Given the description of an element on the screen output the (x, y) to click on. 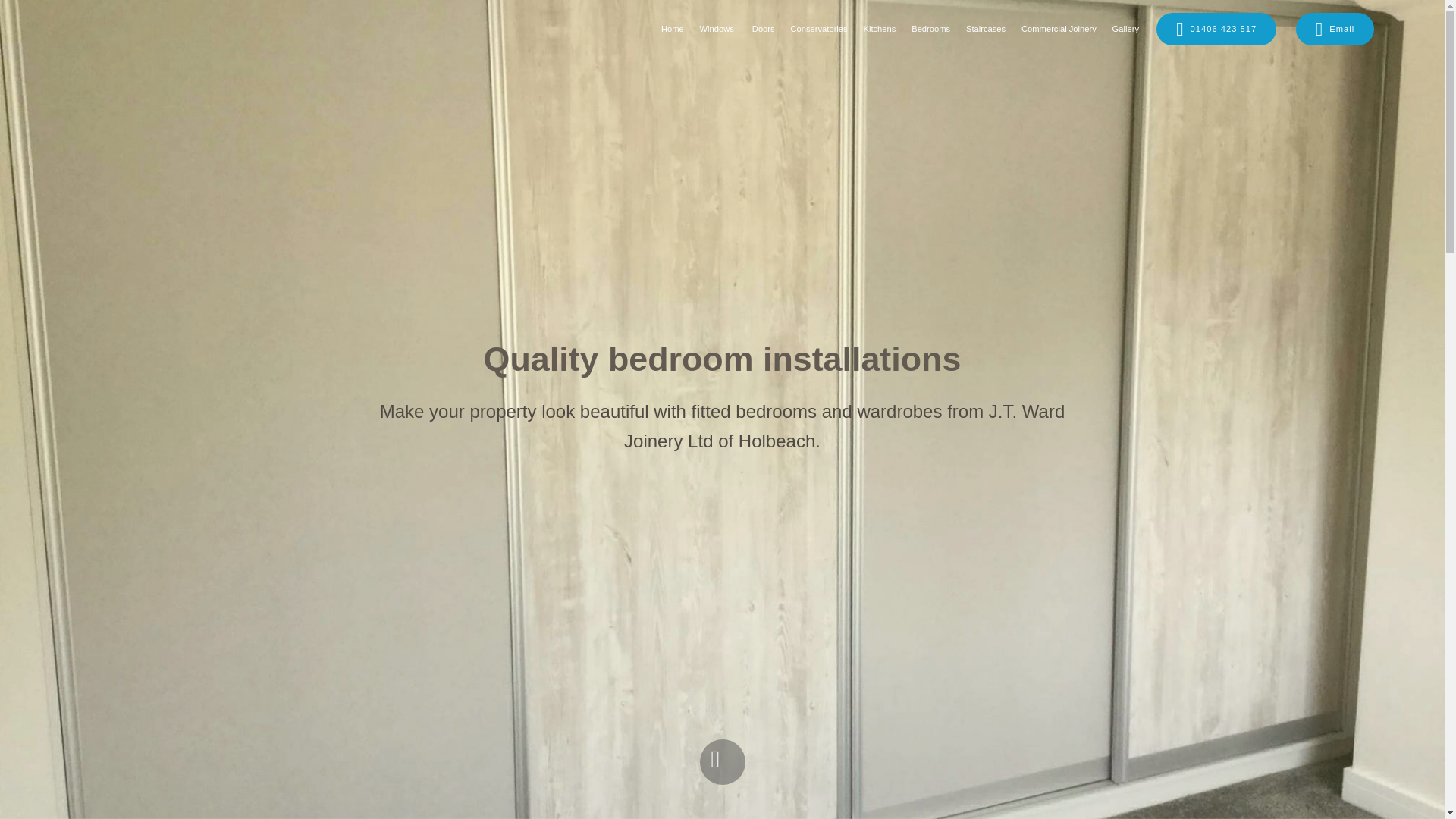
Staircases (986, 29)
Kitchens (879, 29)
Gallery (1125, 29)
Conservatories (818, 29)
01406 423 517 (1216, 29)
Commercial Joinery (1059, 29)
Windows (716, 29)
Email (1334, 29)
Bedrooms (930, 29)
 Doors (761, 29)
